Given the description of an element on the screen output the (x, y) to click on. 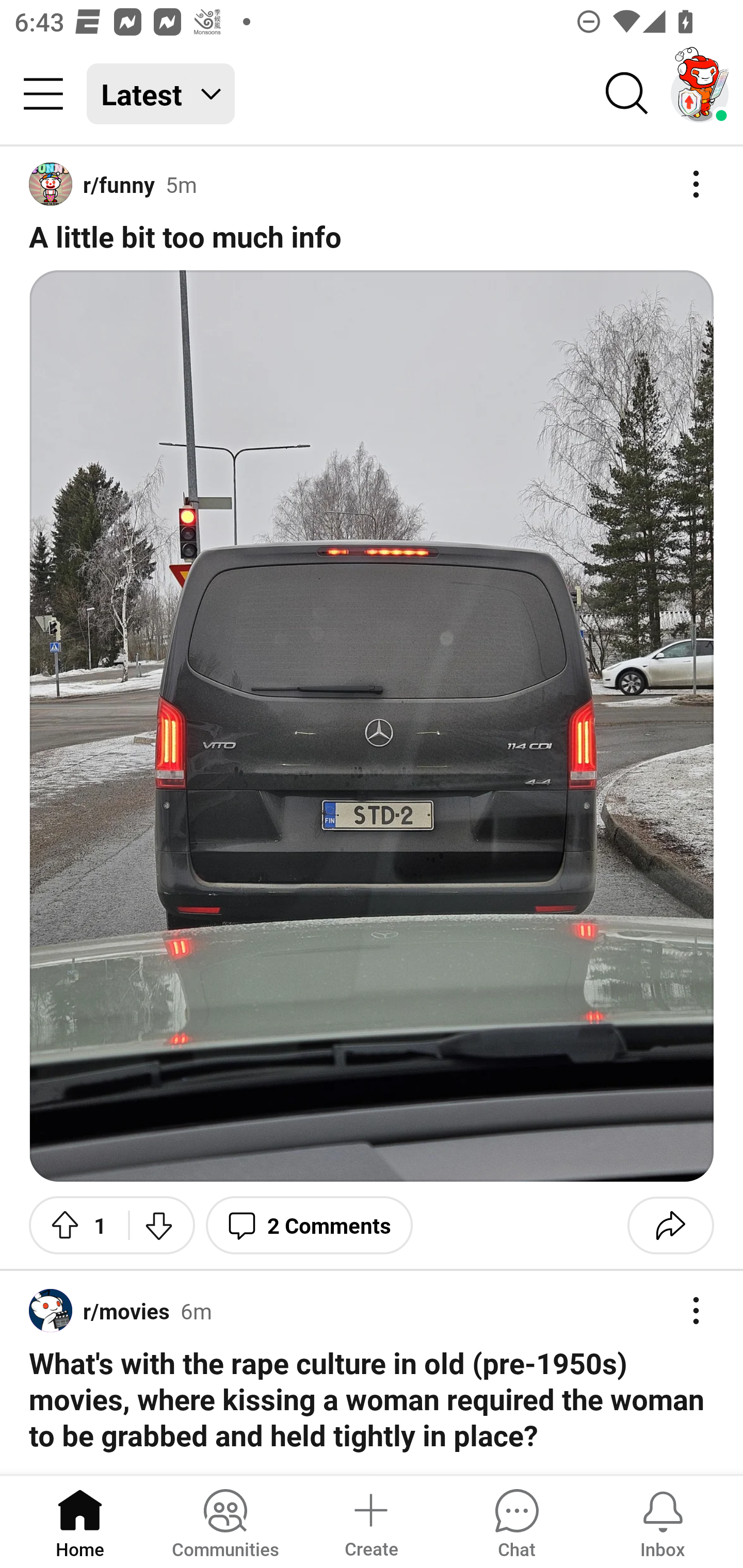
Community menu (43, 93)
Latest Latest feed (160, 93)
Search (626, 93)
TestAppium002 account (699, 93)
Home (80, 1520)
Communities (225, 1520)
Create a post Create (370, 1520)
Chat (516, 1520)
Inbox (662, 1520)
